Given the description of an element on the screen output the (x, y) to click on. 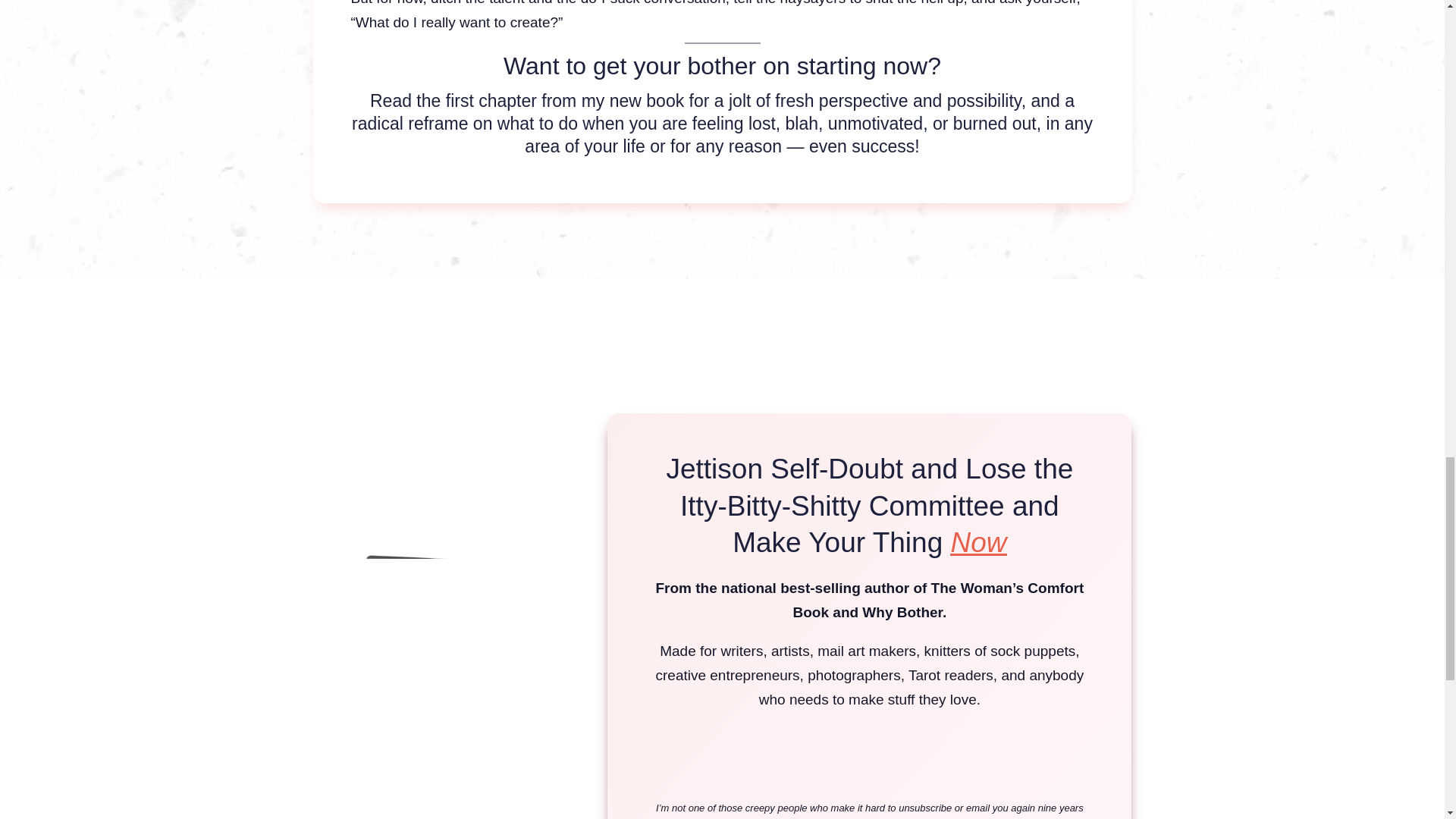
1651736701 (427, 640)
